Given the description of an element on the screen output the (x, y) to click on. 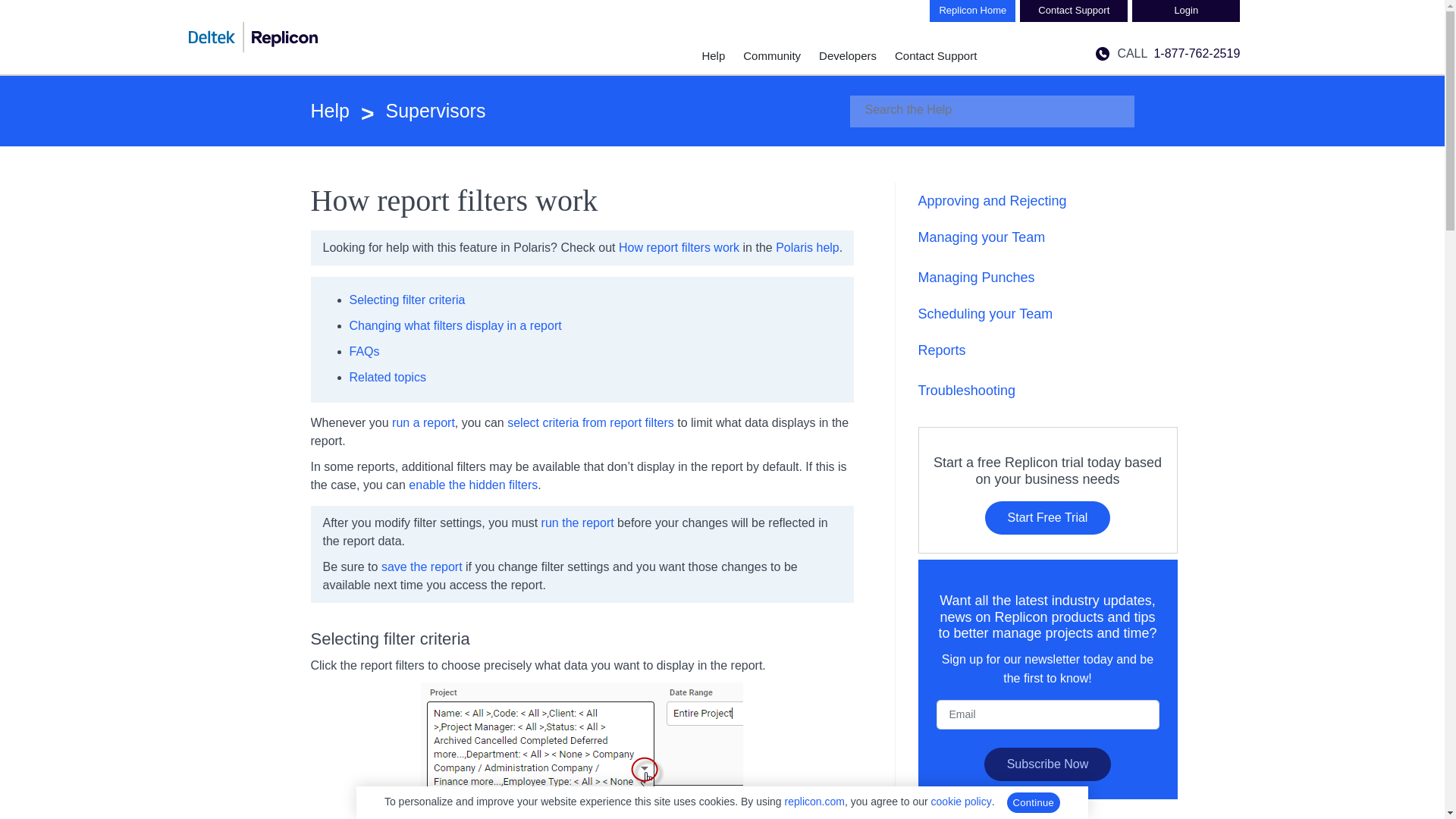
Help (330, 111)
Reports (941, 350)
run a report (422, 422)
Contact Support (935, 54)
Selecting filter criteria (406, 299)
Contact Support (1073, 11)
Changing what filters display in a report (454, 325)
Login (1186, 11)
Approving and Rejecting (991, 200)
Scheduling your Team (984, 313)
Supervisors (417, 110)
Managing your Team (981, 237)
enable the hidden filters (473, 484)
Replicon Home (972, 11)
select criteria from report filters (590, 422)
